Given the description of an element on the screen output the (x, y) to click on. 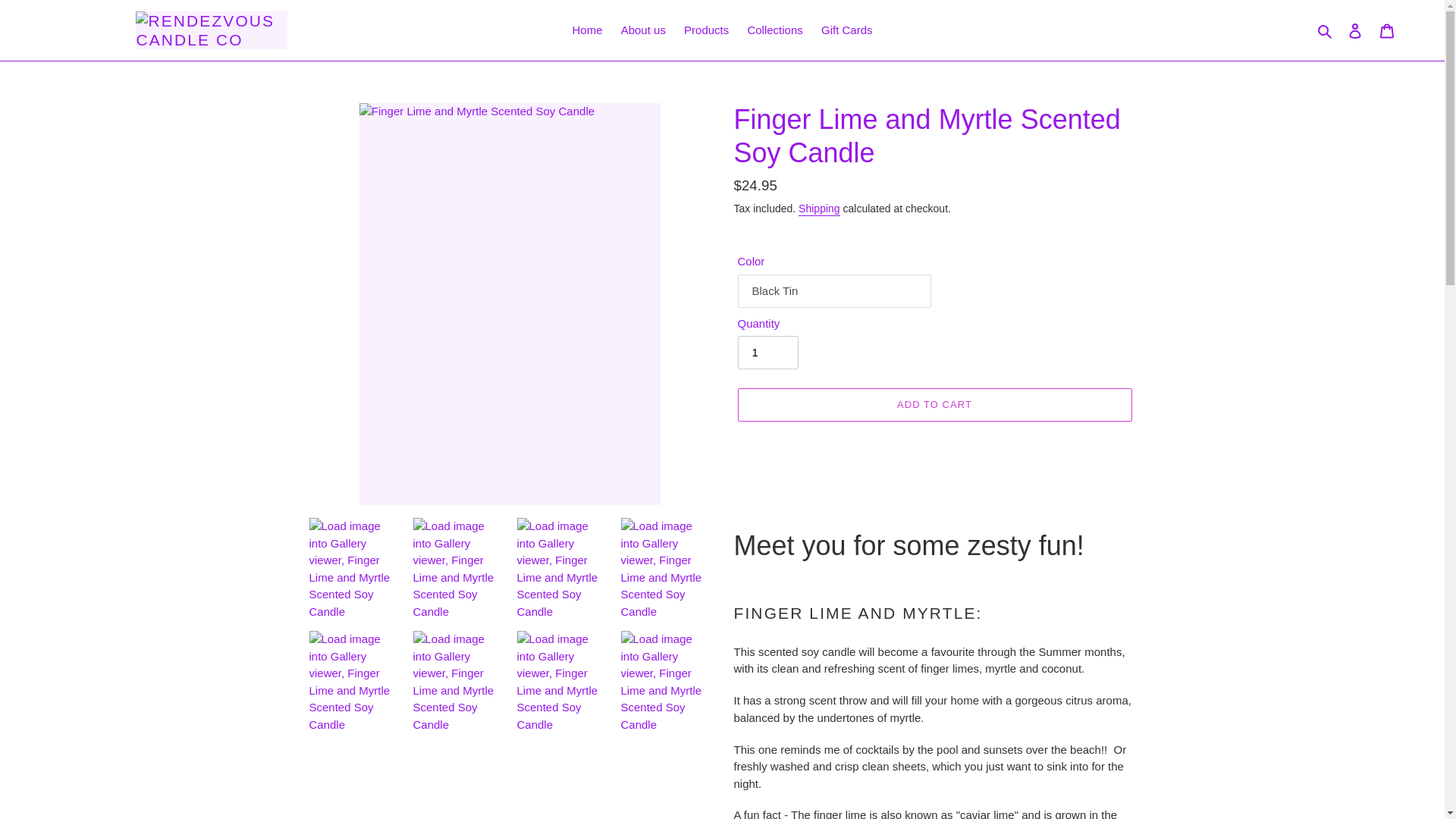
Shipping (818, 209)
Collections (774, 30)
Search (1326, 30)
Gift Cards (846, 30)
1 (766, 352)
ADD TO CART (933, 404)
Products (706, 30)
Log in (1355, 30)
Home (587, 30)
About us (642, 30)
